Given the description of an element on the screen output the (x, y) to click on. 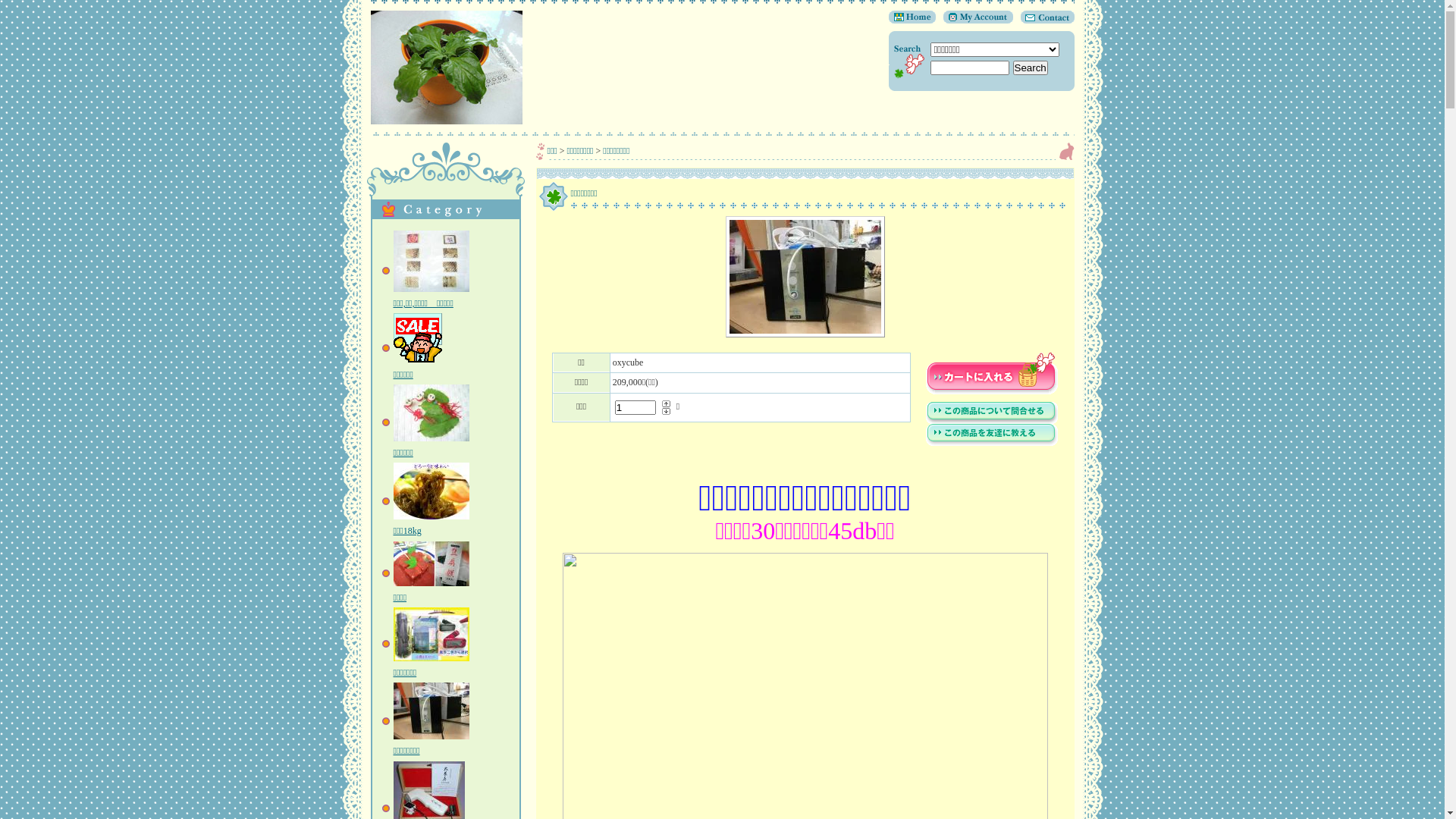
My Account Element type: hover (974, 20)
Home Element type: hover (911, 20)
Search Element type: text (1030, 67)
Contact Element type: hover (1043, 20)
